Given the description of an element on the screen output the (x, y) to click on. 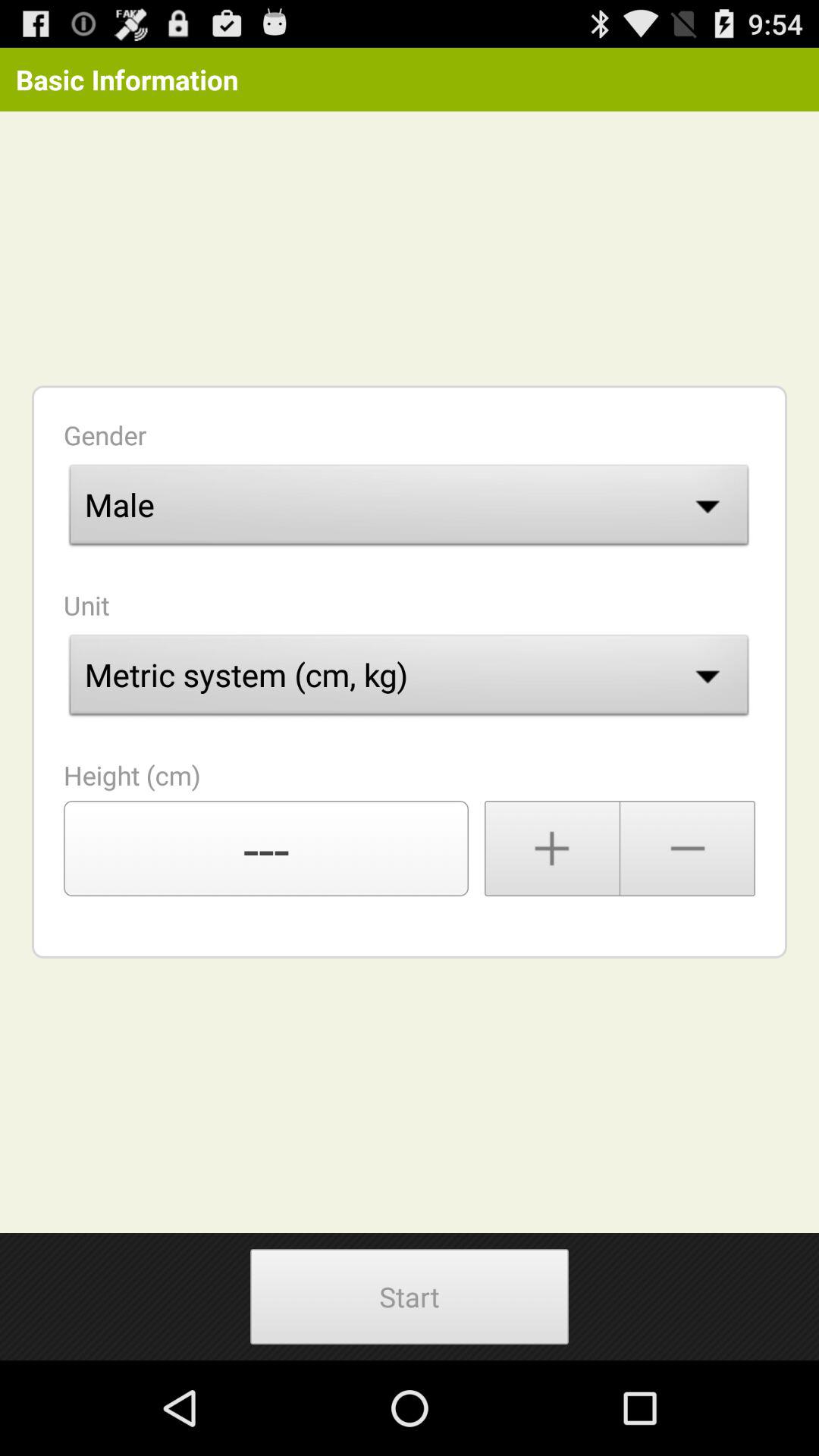
launch the --- icon (265, 848)
